Given the description of an element on the screen output the (x, y) to click on. 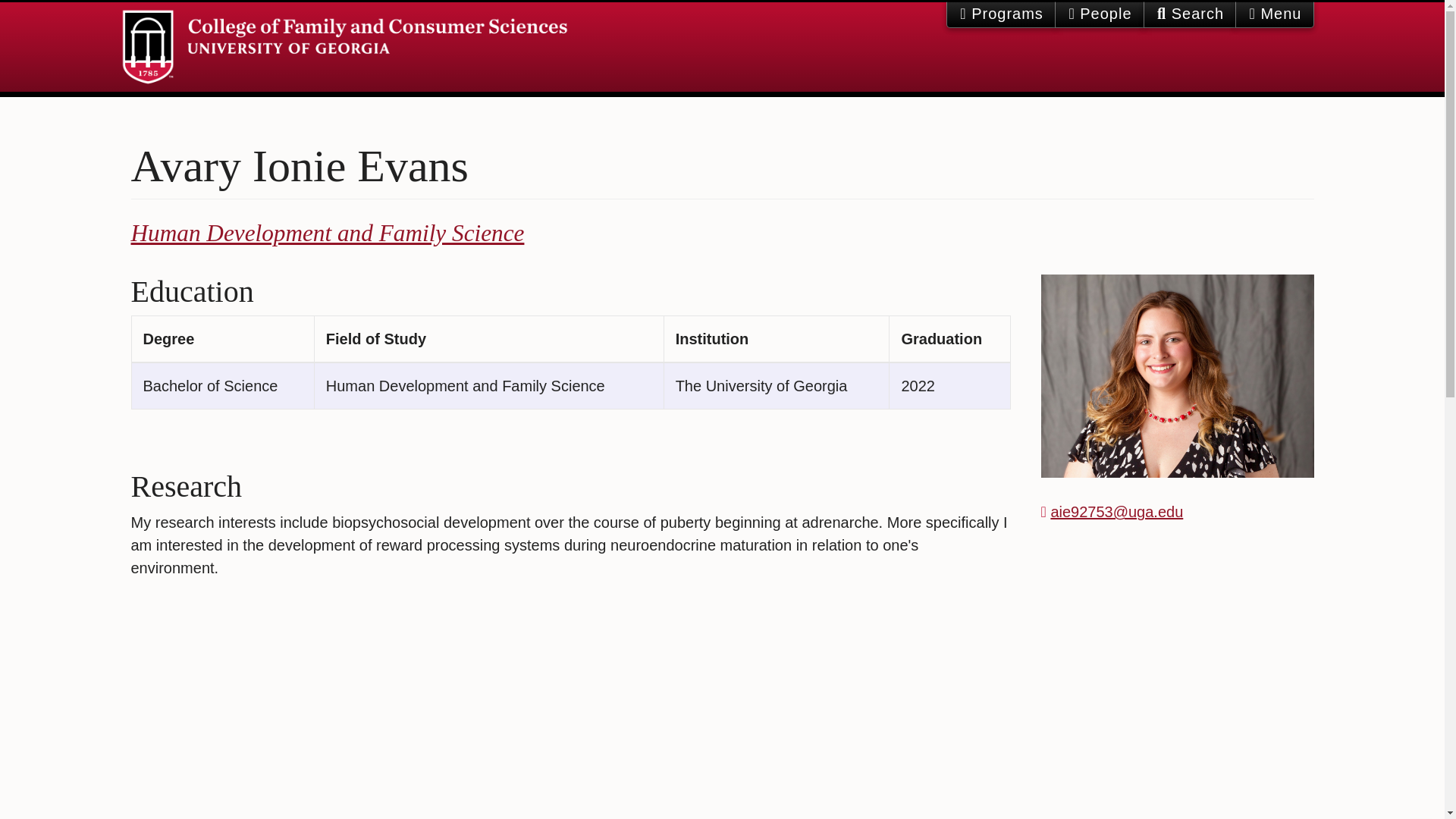
Menu (1273, 14)
Search the College (1190, 13)
Human Development and Family Science (327, 233)
People (1099, 14)
Navigation Menu (1274, 13)
Search (1189, 14)
Academic Programs (1000, 13)
Personnel Directory (1099, 13)
UGA College of Family and Consumer Sciences Home Page (344, 46)
Programs (1000, 14)
